Given the description of an element on the screen output the (x, y) to click on. 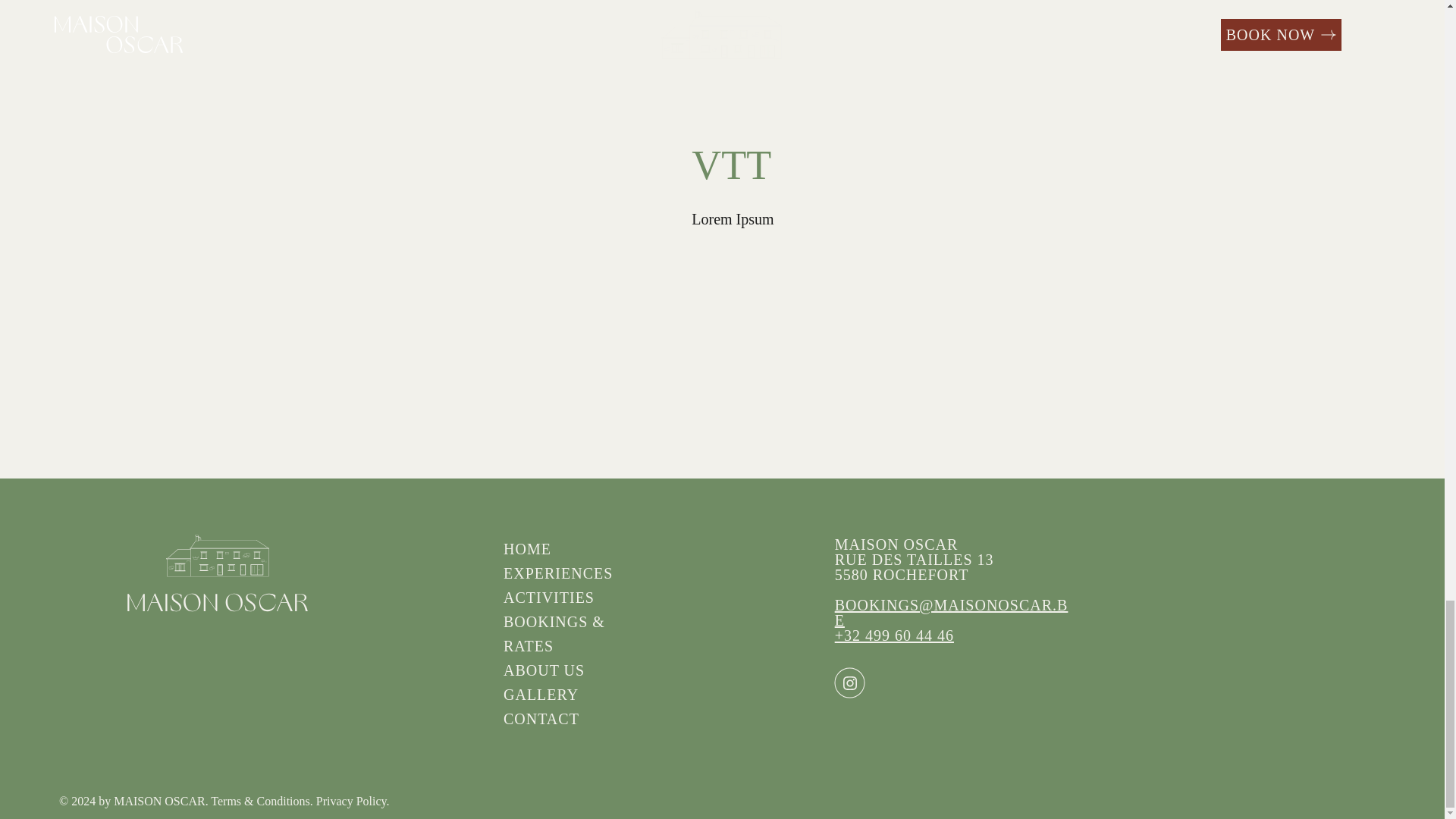
HOME (527, 548)
GALLERY (540, 694)
ACTIVITIES (548, 597)
ABOUT US (544, 669)
EXPERIENCES (557, 573)
CONTACT (541, 718)
